Given the description of an element on the screen output the (x, y) to click on. 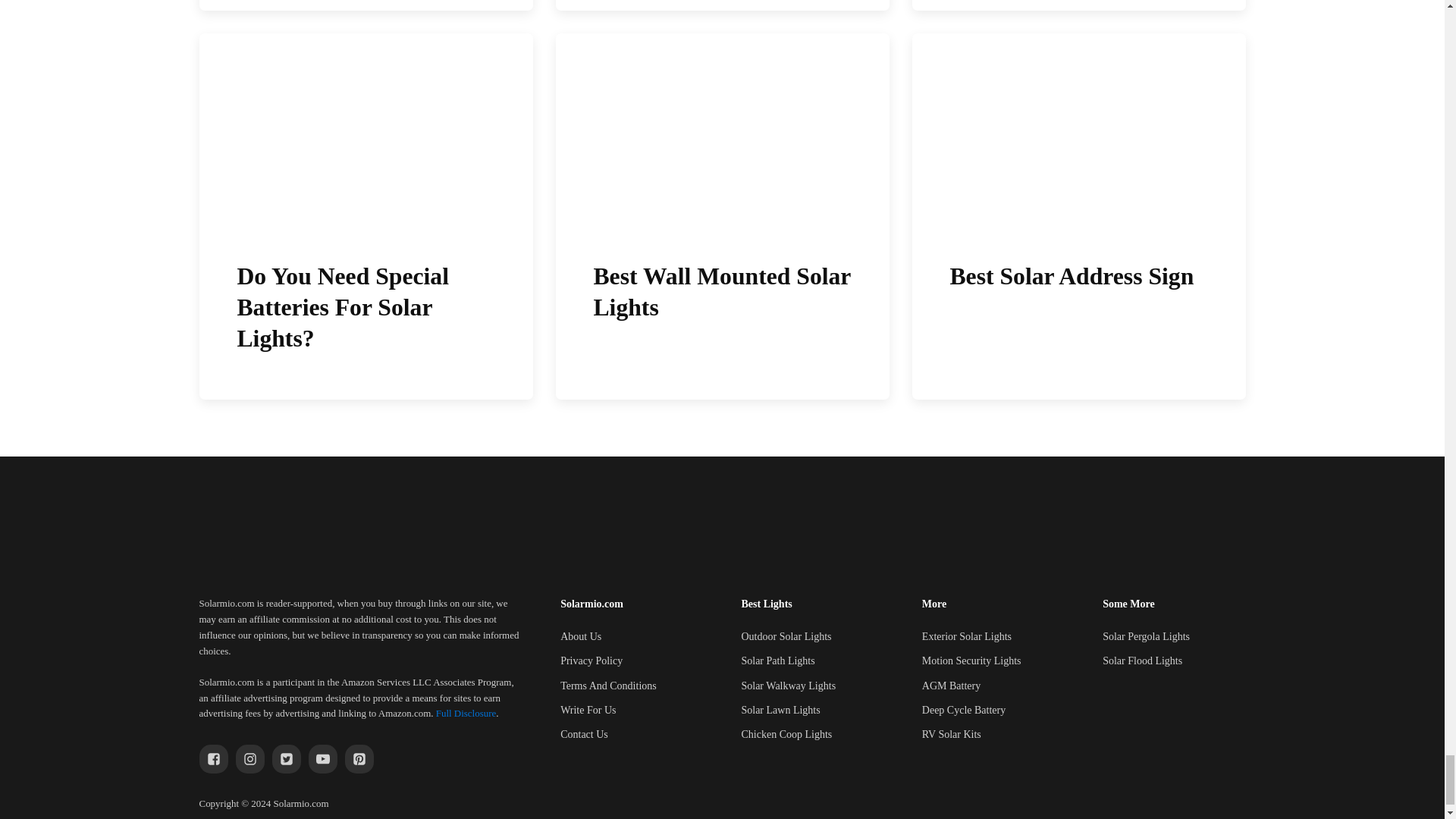
Best Wall Mounted Solar Lights (721, 216)
Contact Us (584, 734)
Why Do My Solar Lights Come On During The Day (721, 5)
Solar Lawn Lights (780, 710)
Outdoor Solar Lights (786, 636)
Best Solar Address Sign (1077, 216)
Do You Need Special Batteries For Solar Lights? (365, 216)
Chicken Coop Lights (786, 734)
Where Does Fossil Fuel Come from? (365, 5)
Full Disclosure (465, 713)
Solar Path Lights (777, 660)
Terms And Conditions (608, 686)
Write For Us (587, 710)
Privacy Policy (591, 660)
Best Garage Motion Sensor Lights (1077, 5)
